Given the description of an element on the screen output the (x, y) to click on. 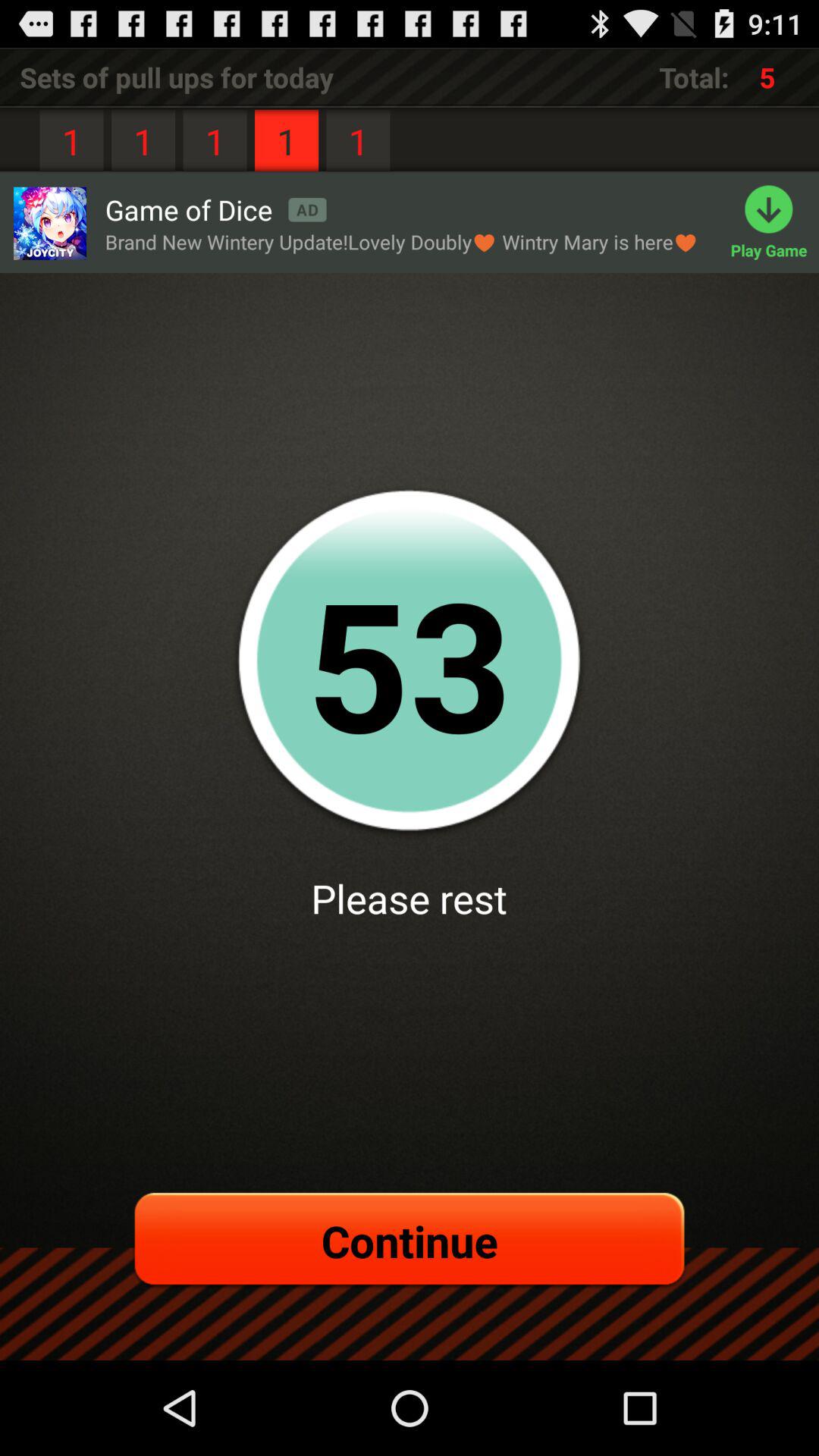
turn off the app to the left of the play game icon (215, 209)
